Given the description of an element on the screen output the (x, y) to click on. 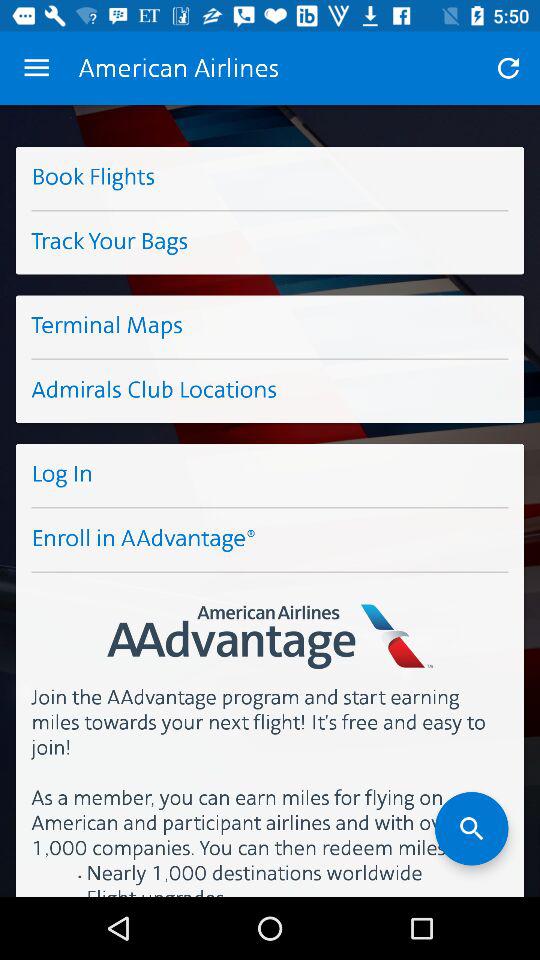
click item above admirals club locations item (269, 326)
